Given the description of an element on the screen output the (x, y) to click on. 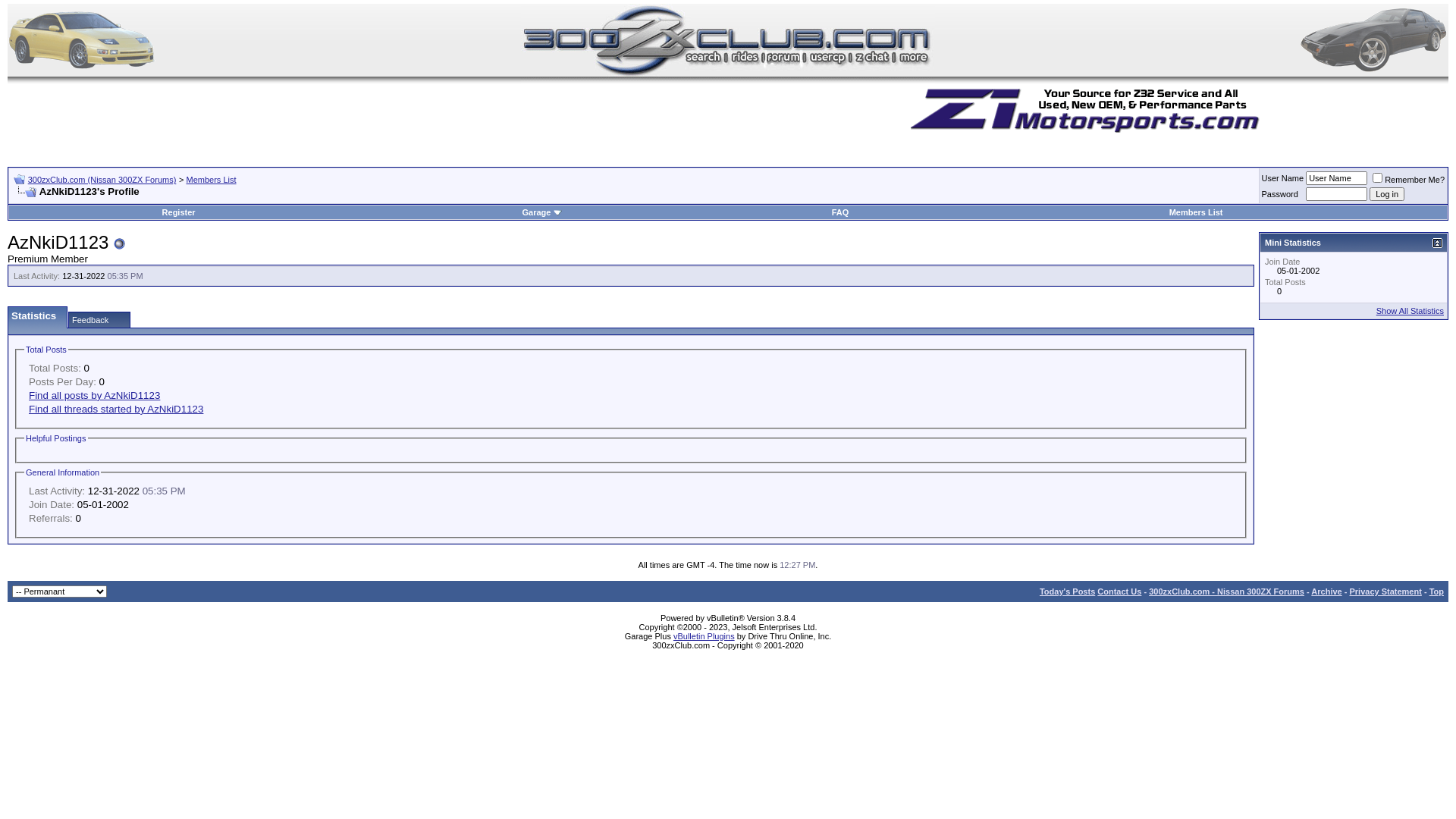
AzNkiD1123 is offline Element type: hover (119, 243)
FAQ Element type: text (840, 211)
Top Element type: text (1436, 591)
300zxClub.com - Nissan 300ZX Forums Element type: text (1226, 591)
Archive Element type: text (1326, 591)
Z1 Motorsports Element type: hover (1087, 109)
Show All Statistics Element type: text (1409, 310)
Today's Posts Element type: text (1067, 591)
Go Back Element type: hover (19, 179)
Find all posts by AzNkiD1123 Element type: text (94, 395)
Members List Element type: text (211, 179)
Contact Us Element type: text (1119, 591)
Register Element type: text (178, 211)
Log in Element type: text (1386, 193)
Reload this Page Element type: hover (24, 191)
Garage Element type: text (541, 211)
Find all threads started by AzNkiD1123 Element type: text (115, 408)
300zxClub.com (Nissan 300ZX Forums) Element type: text (102, 179)
Privacy Statement Element type: text (1385, 591)
Members List Element type: text (1196, 211)
vBulletin Plugins Element type: text (703, 635)
